Given the description of an element on the screen output the (x, y) to click on. 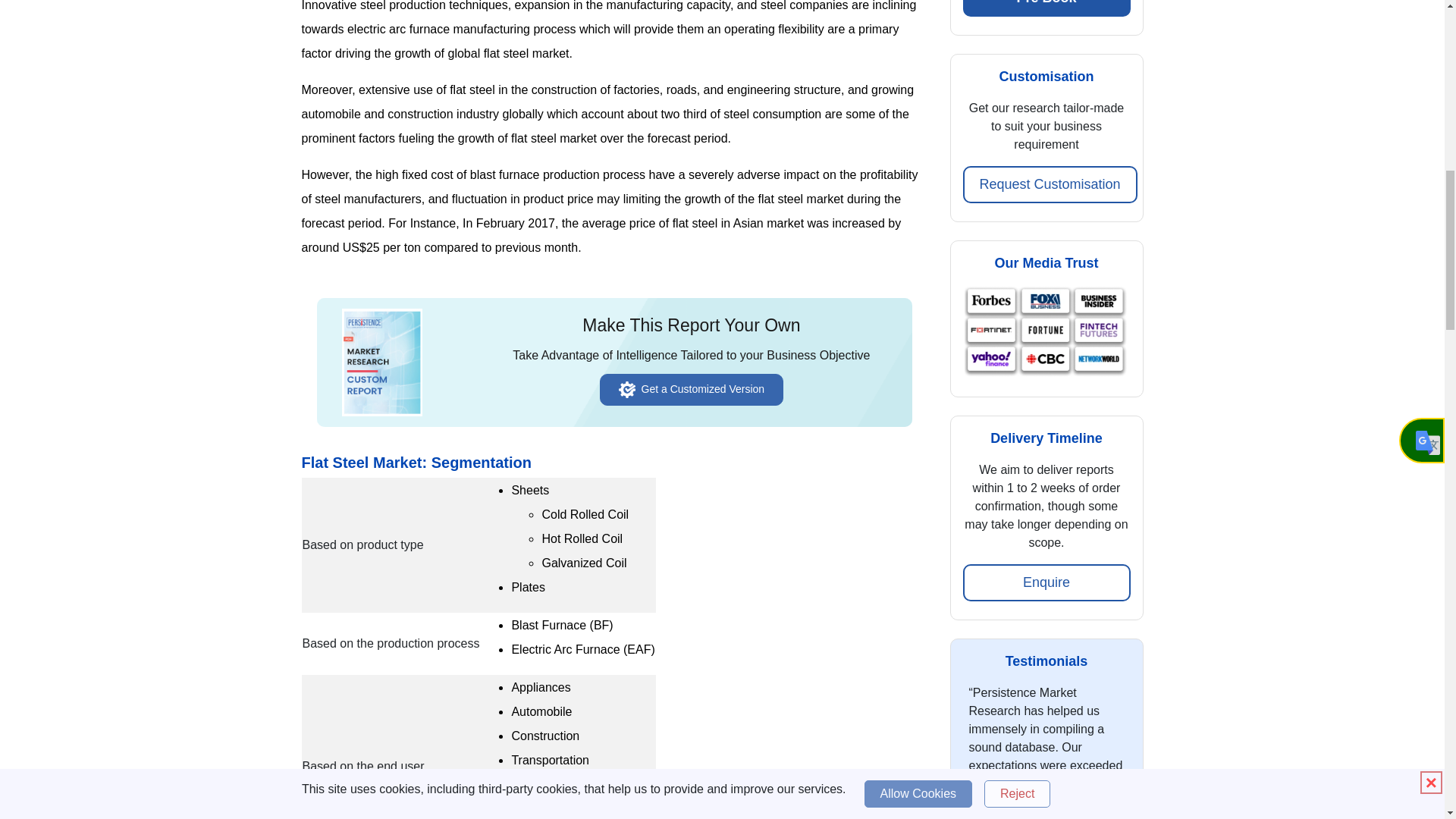
Request Customisation (1049, 184)
Enquire (1046, 582)
Pre Book (1046, 8)
